Given the description of an element on the screen output the (x, y) to click on. 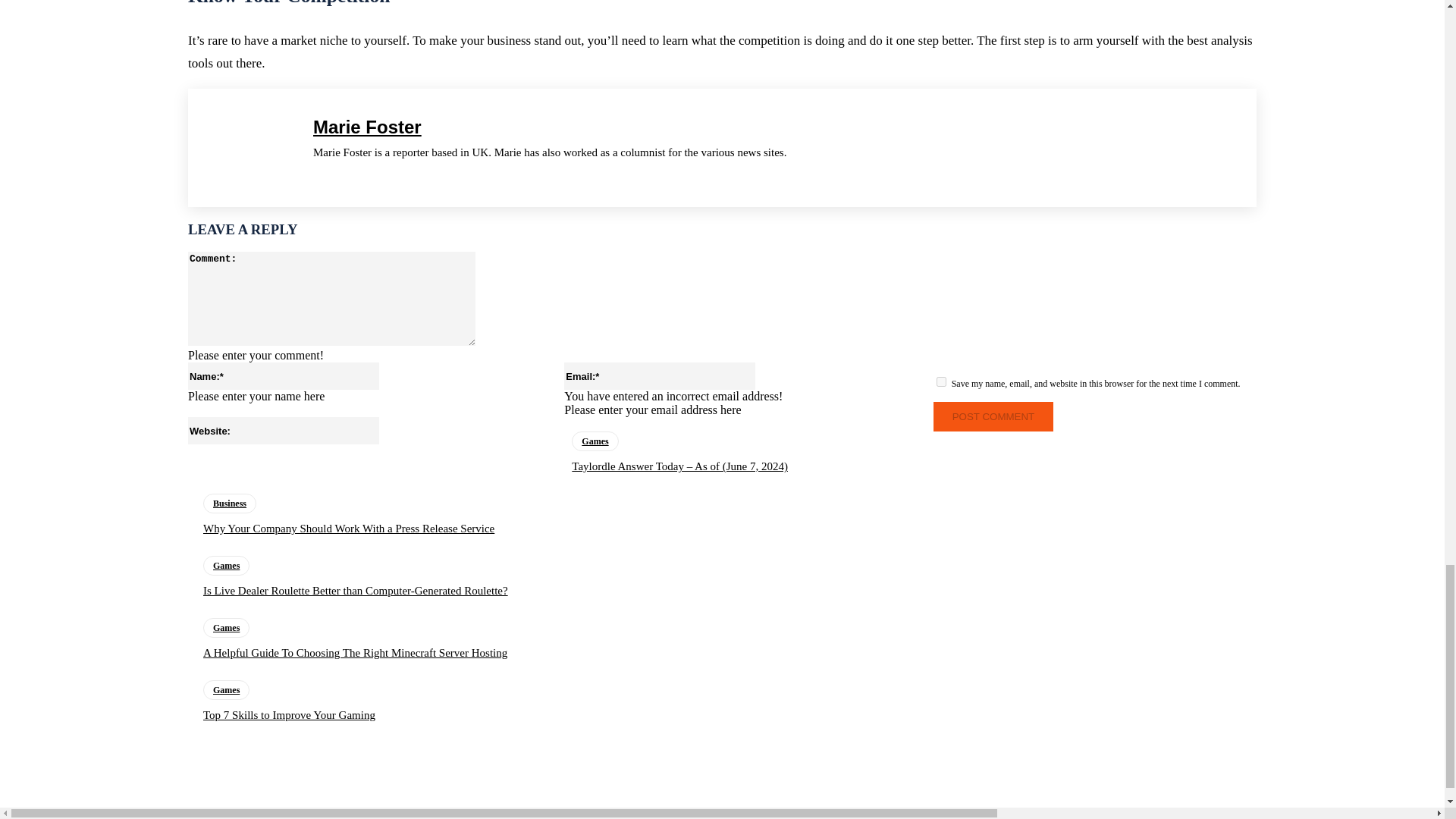
yes (941, 381)
Post Comment (993, 416)
